Given the description of an element on the screen output the (x, y) to click on. 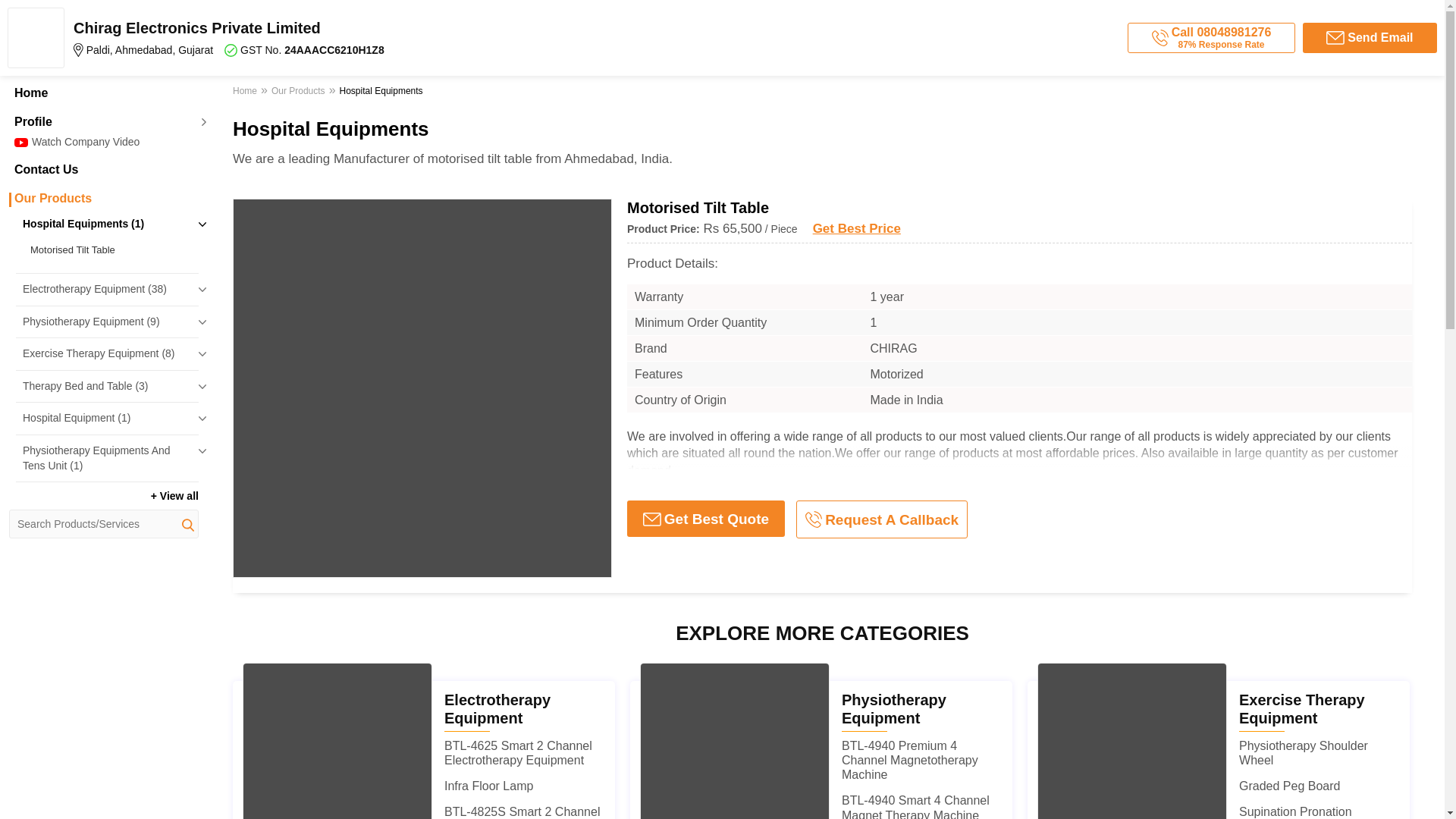
Profile (103, 121)
Motorised Tilt Table (110, 250)
Home (103, 92)
Contact Us (103, 169)
Our Products (103, 198)
